Given the description of an element on the screen output the (x, y) to click on. 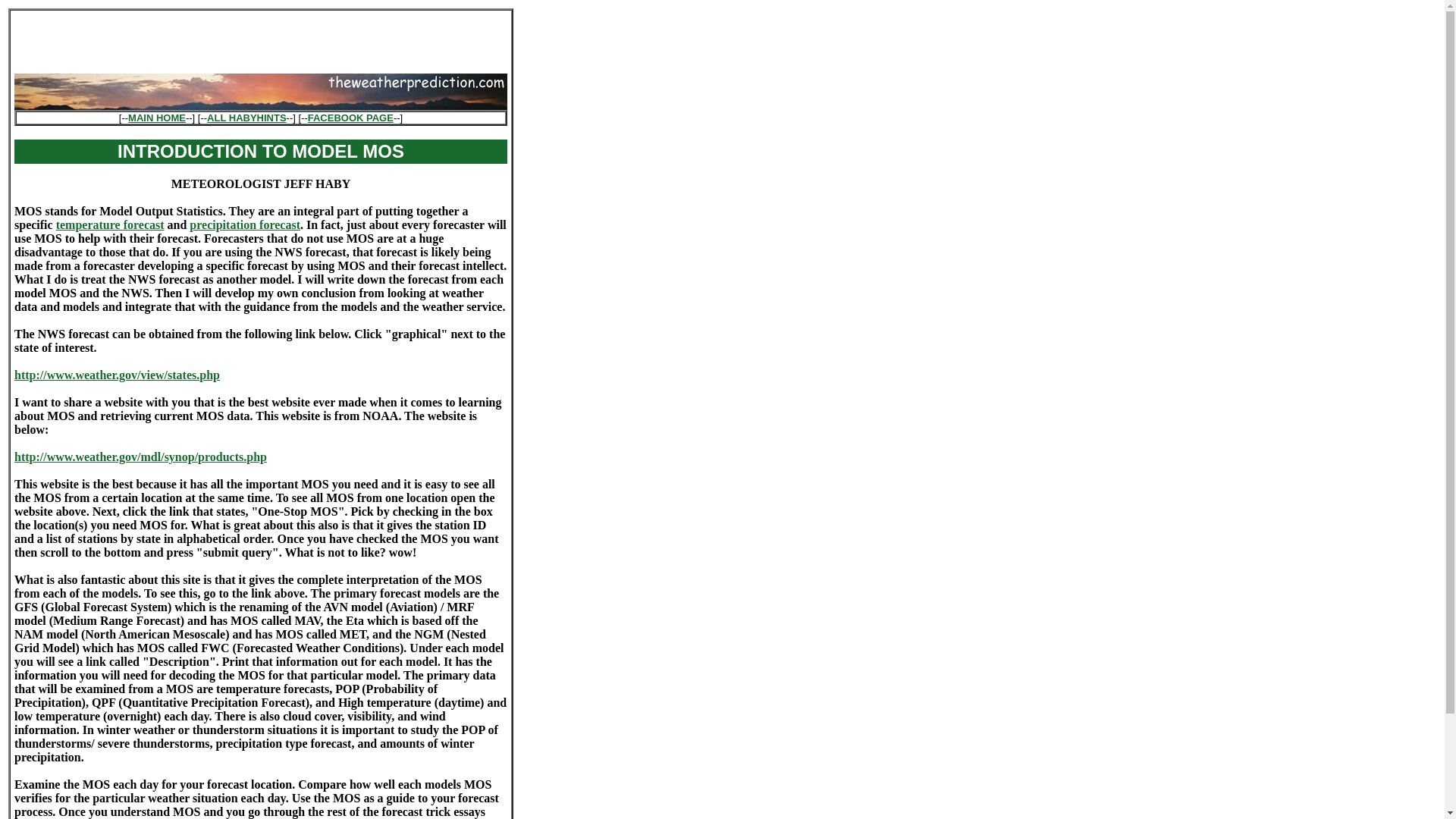
MAIN HOME (157, 117)
temperature forecast (110, 224)
Advertisement (260, 36)
ALL HABYHINTS (245, 117)
FACEBOOK PAGE (350, 117)
precipitation forecast (244, 224)
